Given the description of an element on the screen output the (x, y) to click on. 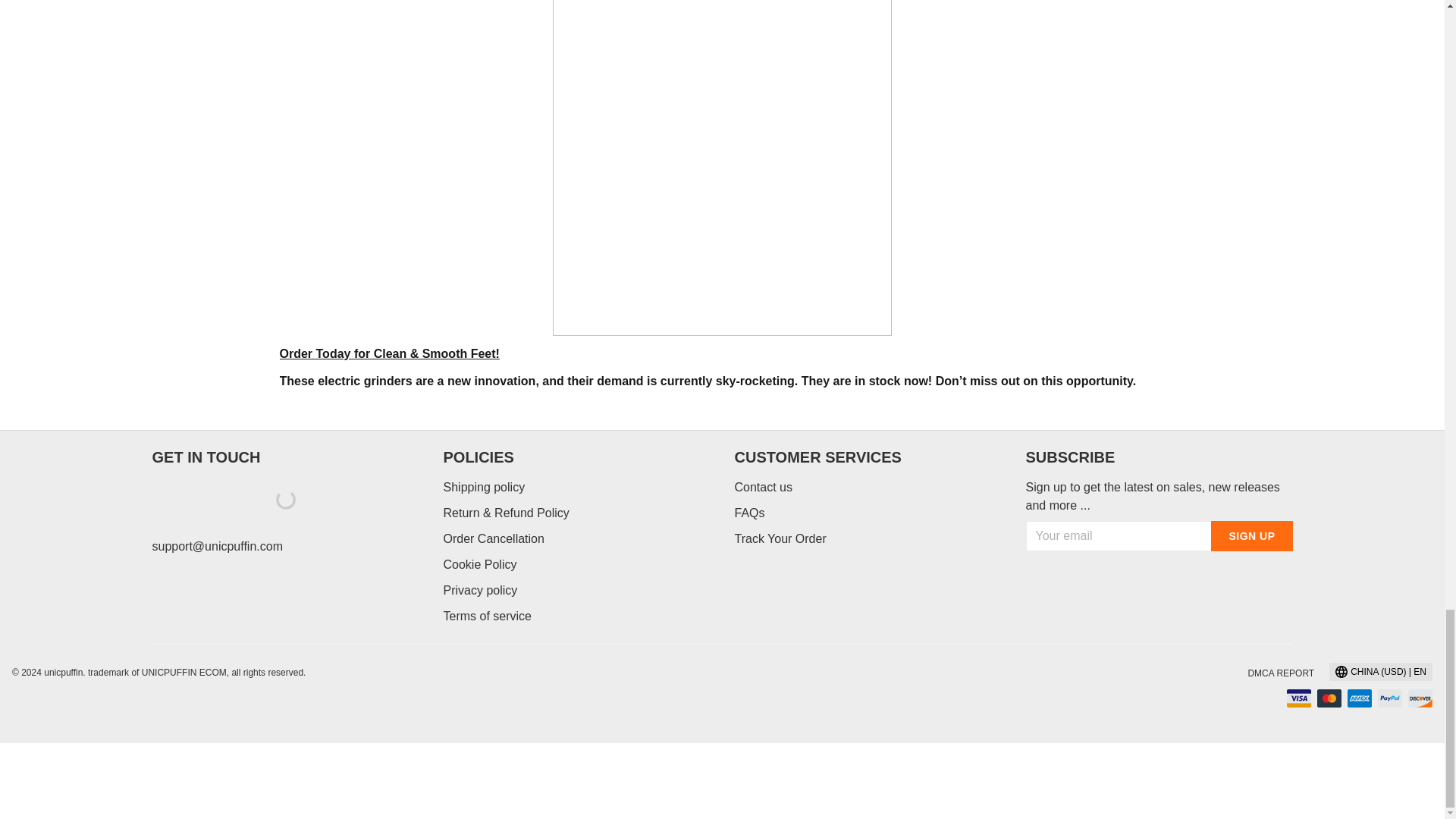
DMCA REPORT (1280, 673)
Contact us (762, 486)
Order Cancellation (492, 538)
Privacy policy (479, 590)
FAQs (748, 512)
Cookie Policy (479, 563)
Terms of service (486, 615)
SIGN UP (1251, 535)
Track Your Order (779, 538)
Shipping policy (483, 486)
